Given the description of an element on the screen output the (x, y) to click on. 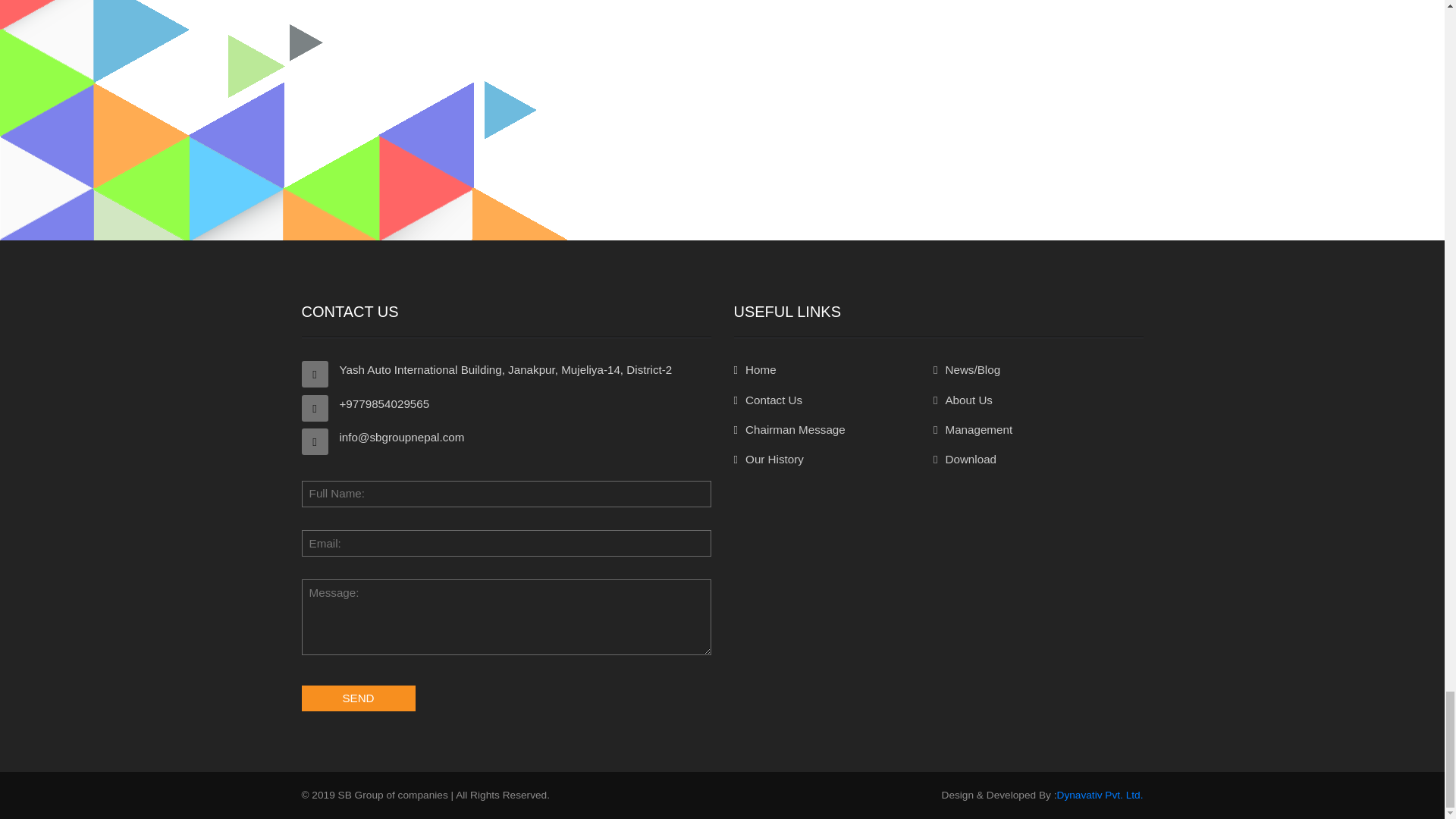
Send (357, 697)
